Given the description of an element on the screen output the (x, y) to click on. 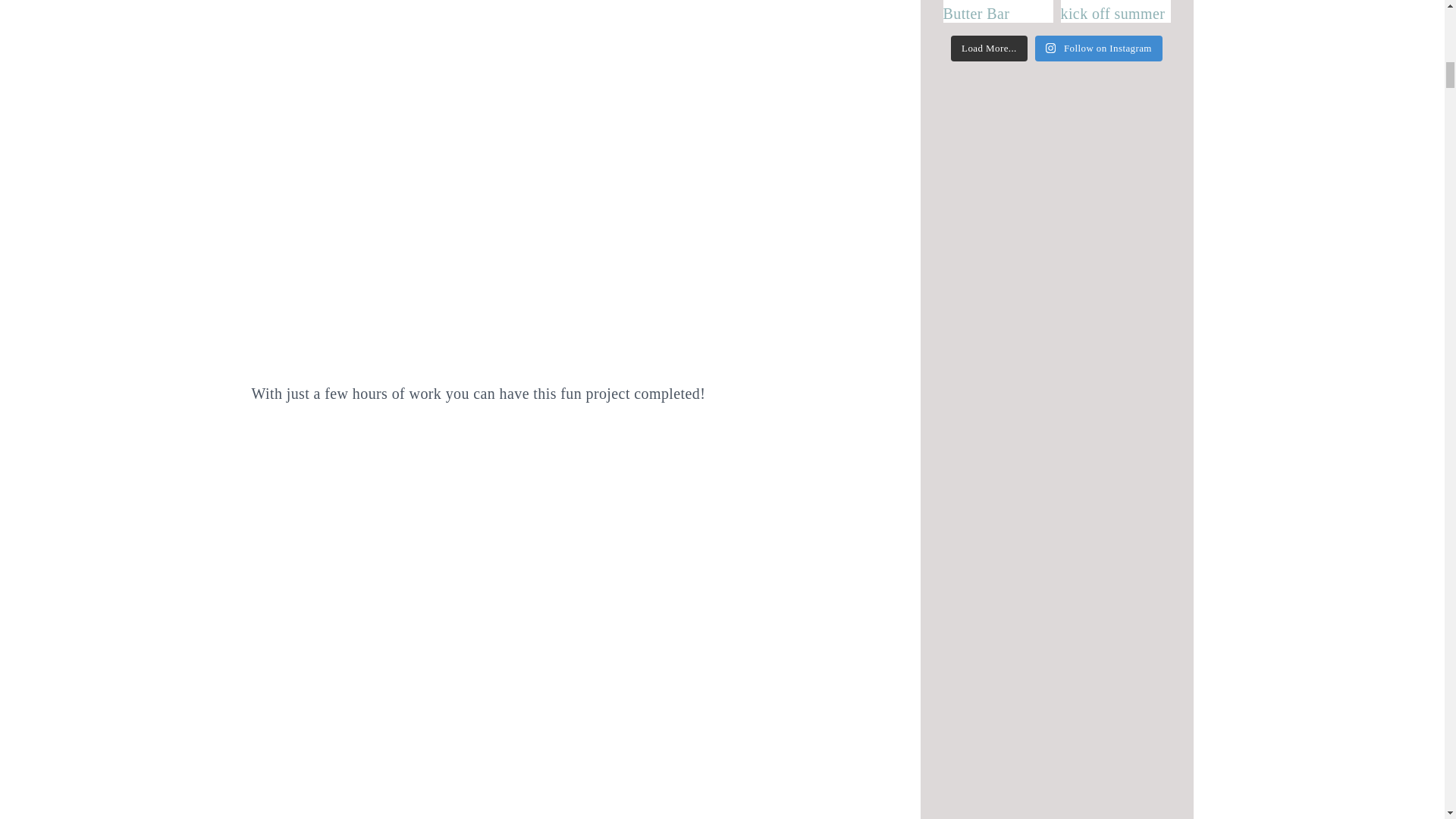
Diamond Painted Outdoor Rug Tutorial (524, 74)
Diamond Painted Outdoor Rug Tutorial (524, 784)
